Given the description of an element on the screen output the (x, y) to click on. 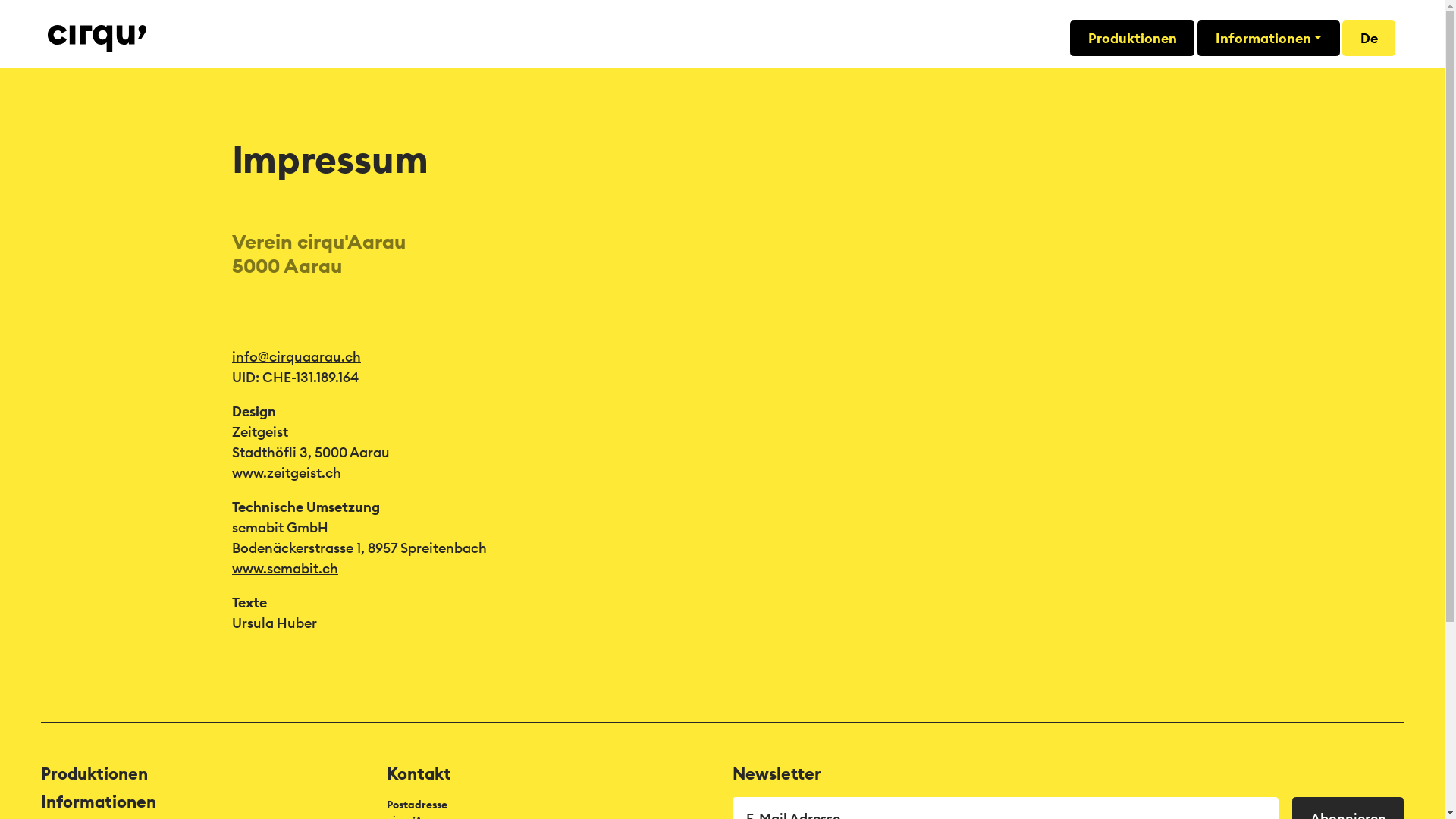
Produktionen Element type: text (93, 773)
www.zeitgeist.ch Element type: text (286, 472)
Informationen Element type: text (1268, 38)
www.semabit.ch Element type: text (285, 568)
Produktionen Element type: text (1132, 38)
De Element type: text (1368, 38)
info@cirquaarau.ch Element type: text (296, 356)
